Given the description of an element on the screen output the (x, y) to click on. 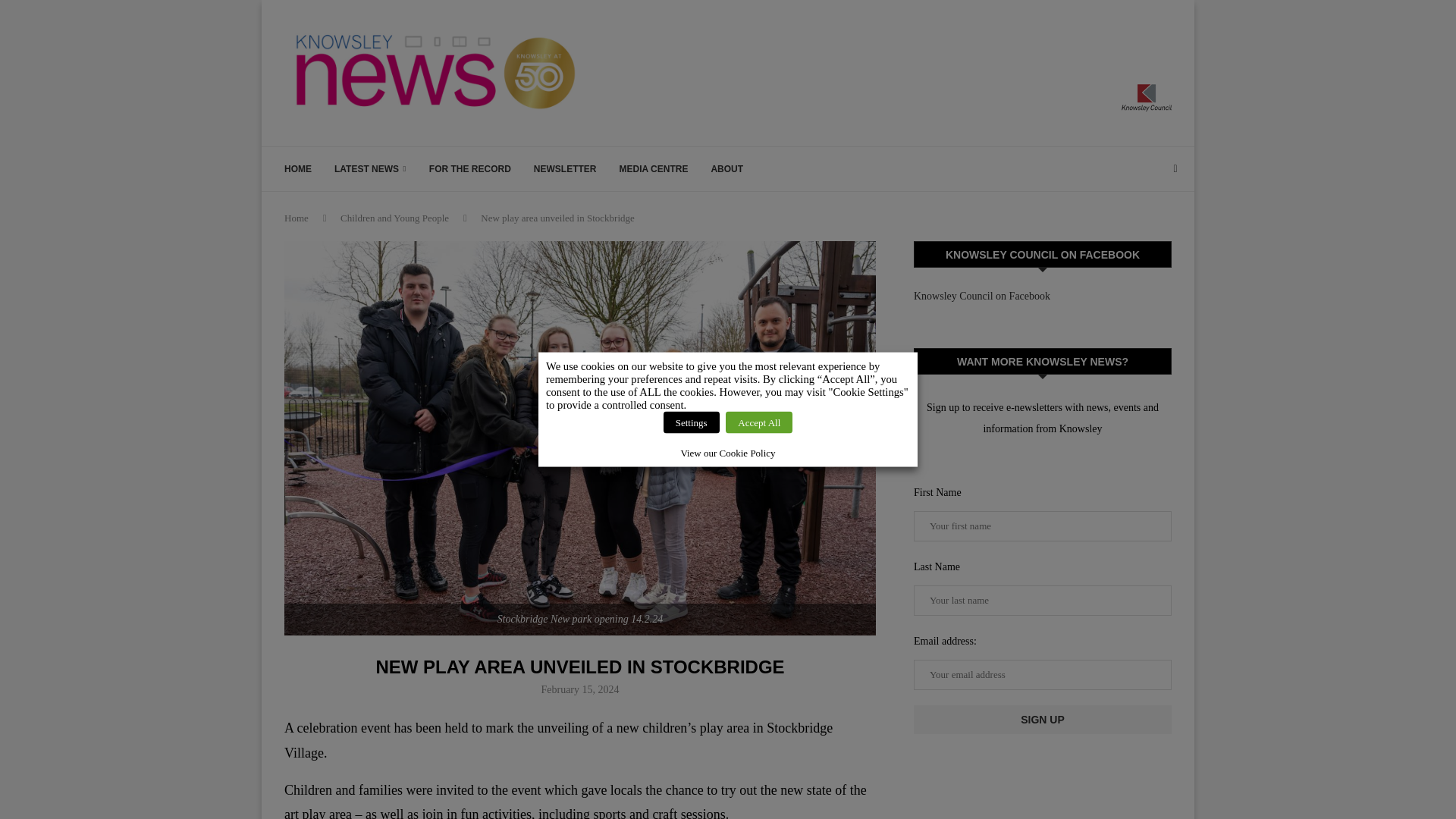
Sign up (1043, 719)
Sign up (1043, 719)
LATEST NEWS (370, 168)
NEWSLETTER (565, 168)
MEDIA CENTRE (654, 168)
Children and Young People (394, 217)
Knowsley Council on Facebook (981, 296)
FOR THE RECORD (470, 168)
Home (295, 217)
